Given the description of an element on the screen output the (x, y) to click on. 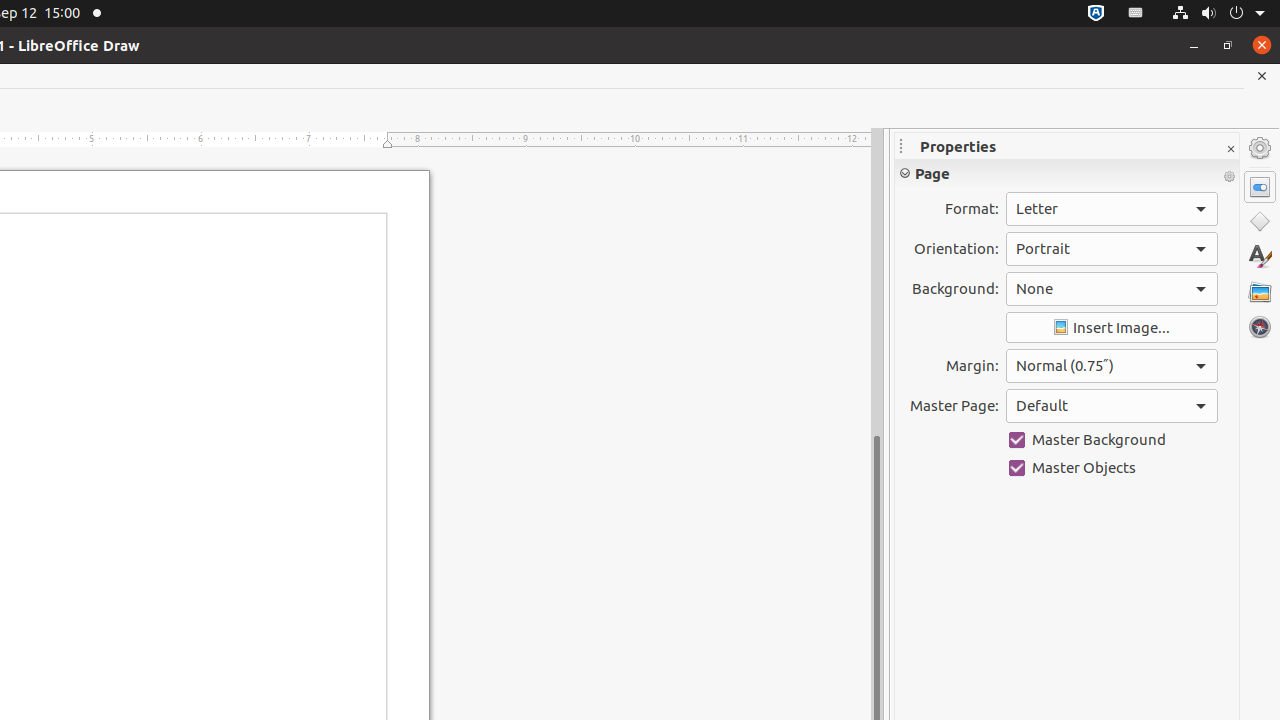
Master Background Element type: check-box (1112, 440)
Styles Element type: radio-button (1260, 256)
